Given the description of an element on the screen output the (x, y) to click on. 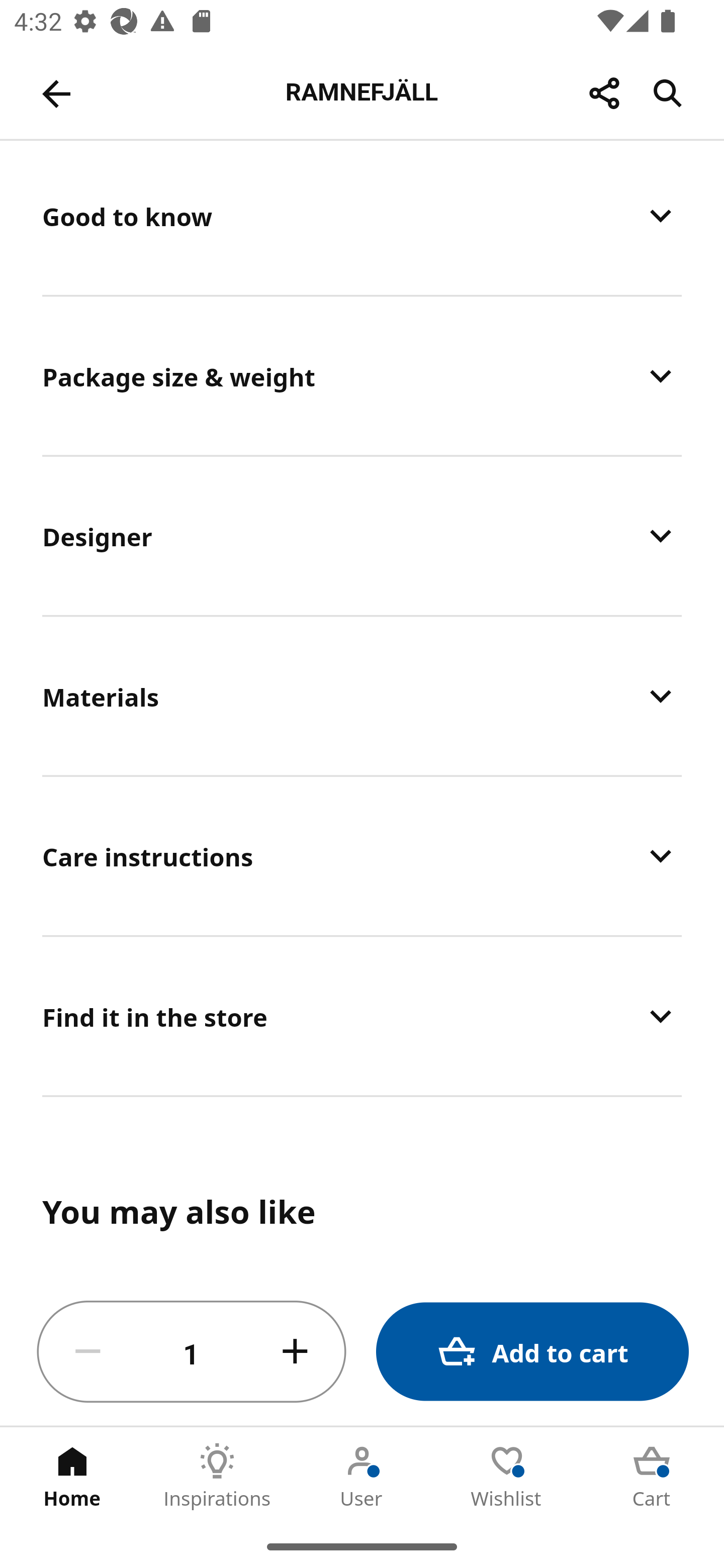
Good to know (361, 217)
Package size & weight (361, 375)
Designer (361, 535)
Materials (361, 696)
Care instructions (361, 854)
Find it in the store (361, 1015)
Add to cart (531, 1352)
1 (191, 1352)
Home
Tab 1 of 5 (72, 1476)
Inspirations
Tab 2 of 5 (216, 1476)
User
Tab 3 of 5 (361, 1476)
Wishlist
Tab 4 of 5 (506, 1476)
Cart
Tab 5 of 5 (651, 1476)
